Given the description of an element on the screen output the (x, y) to click on. 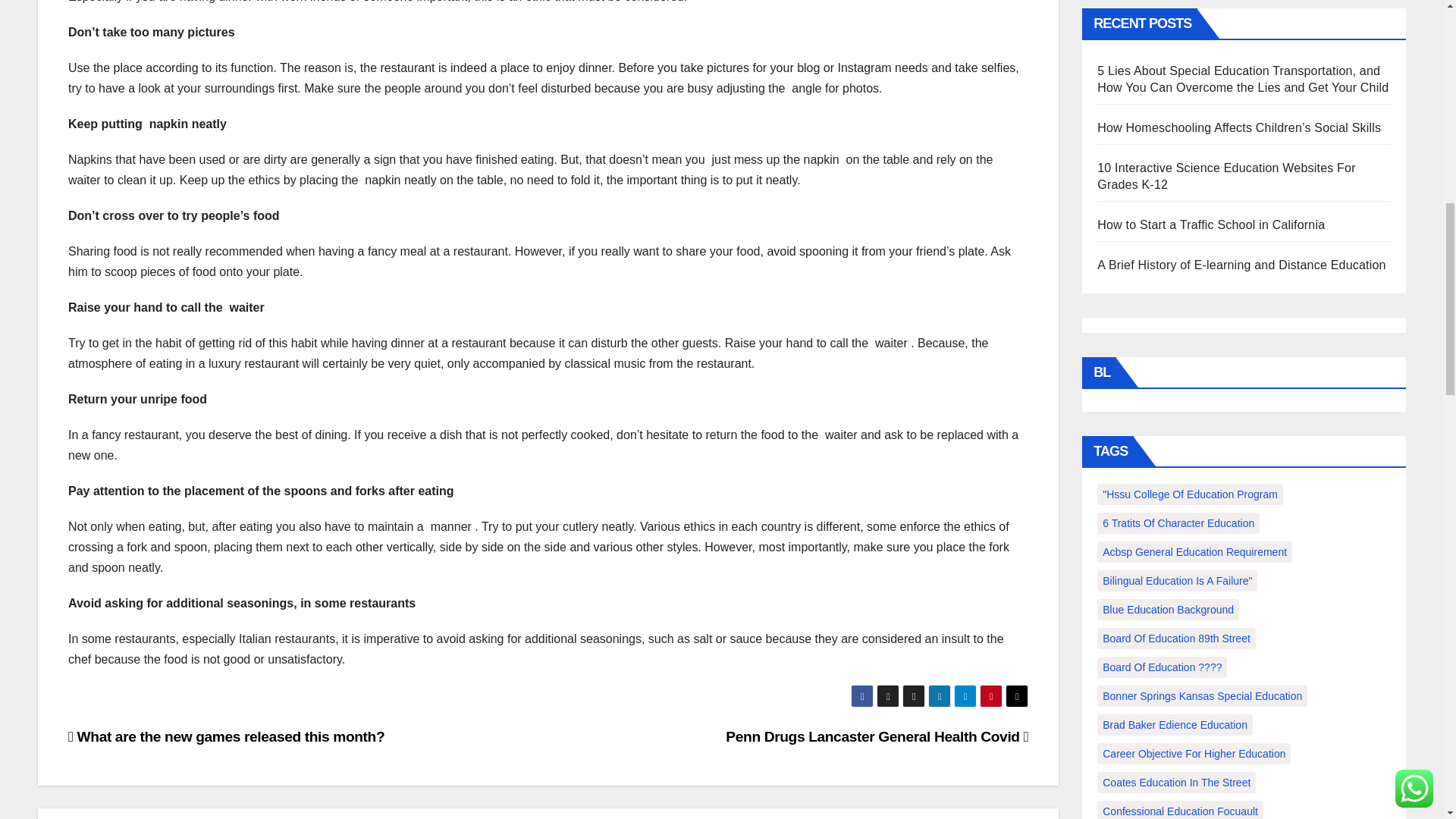
What are the new games released this month? (226, 736)
Penn Drugs Lancaster General Health Covid (876, 736)
